Given the description of an element on the screen output the (x, y) to click on. 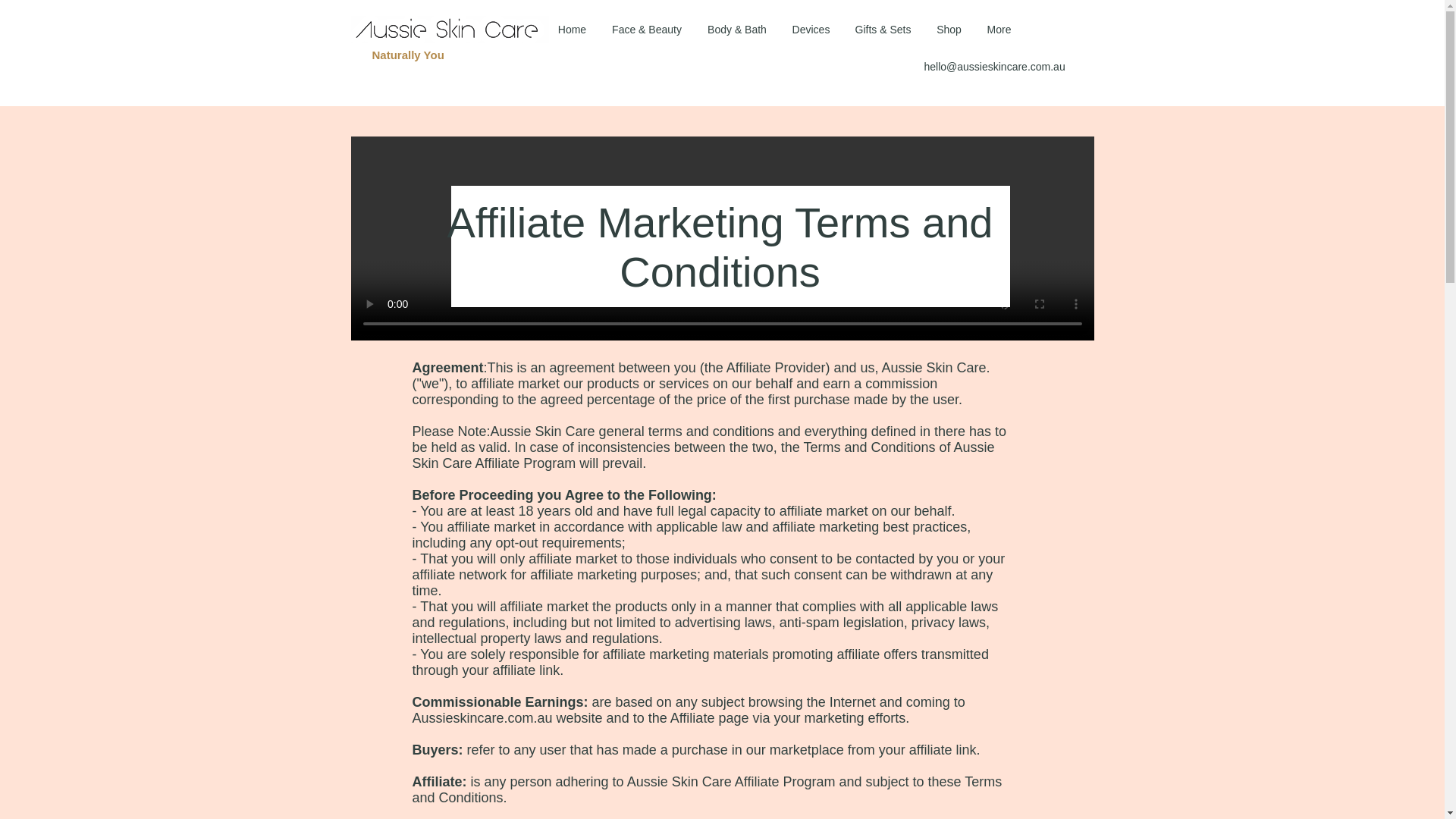
Home (571, 29)
Shop (948, 29)
Devices (809, 29)
Smile.io Rewards Program Launcher (68, 780)
